Given the description of an element on the screen output the (x, y) to click on. 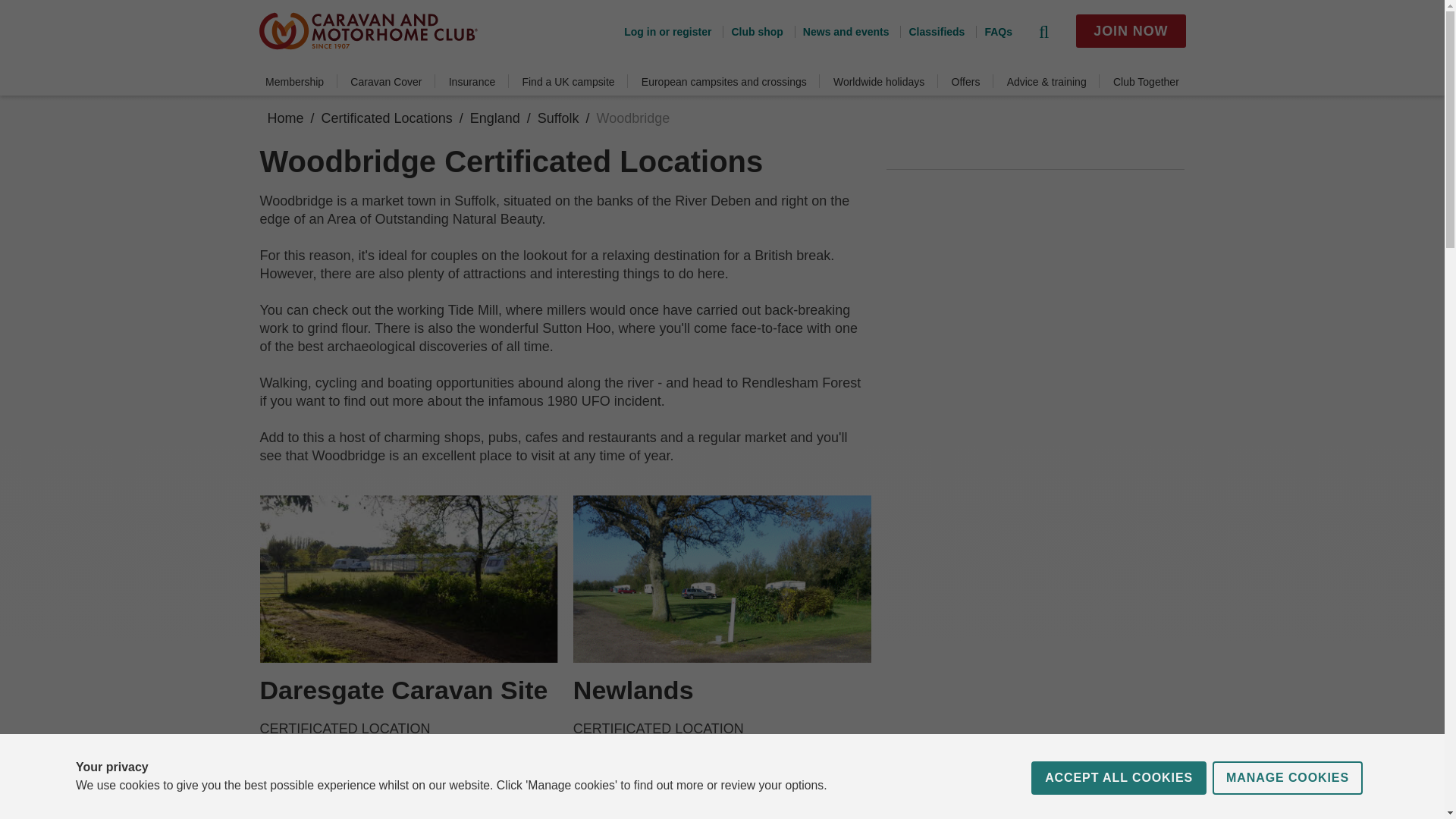
Log in or register (667, 31)
JOIN NOW (1130, 30)
News and events (841, 31)
Club shop (752, 31)
Log in or register (667, 31)
FAQs (993, 31)
Newlands (633, 689)
Daresgate Caravan Site (403, 689)
Classifieds (931, 31)
Membership (293, 81)
